Given the description of an element on the screen output the (x, y) to click on. 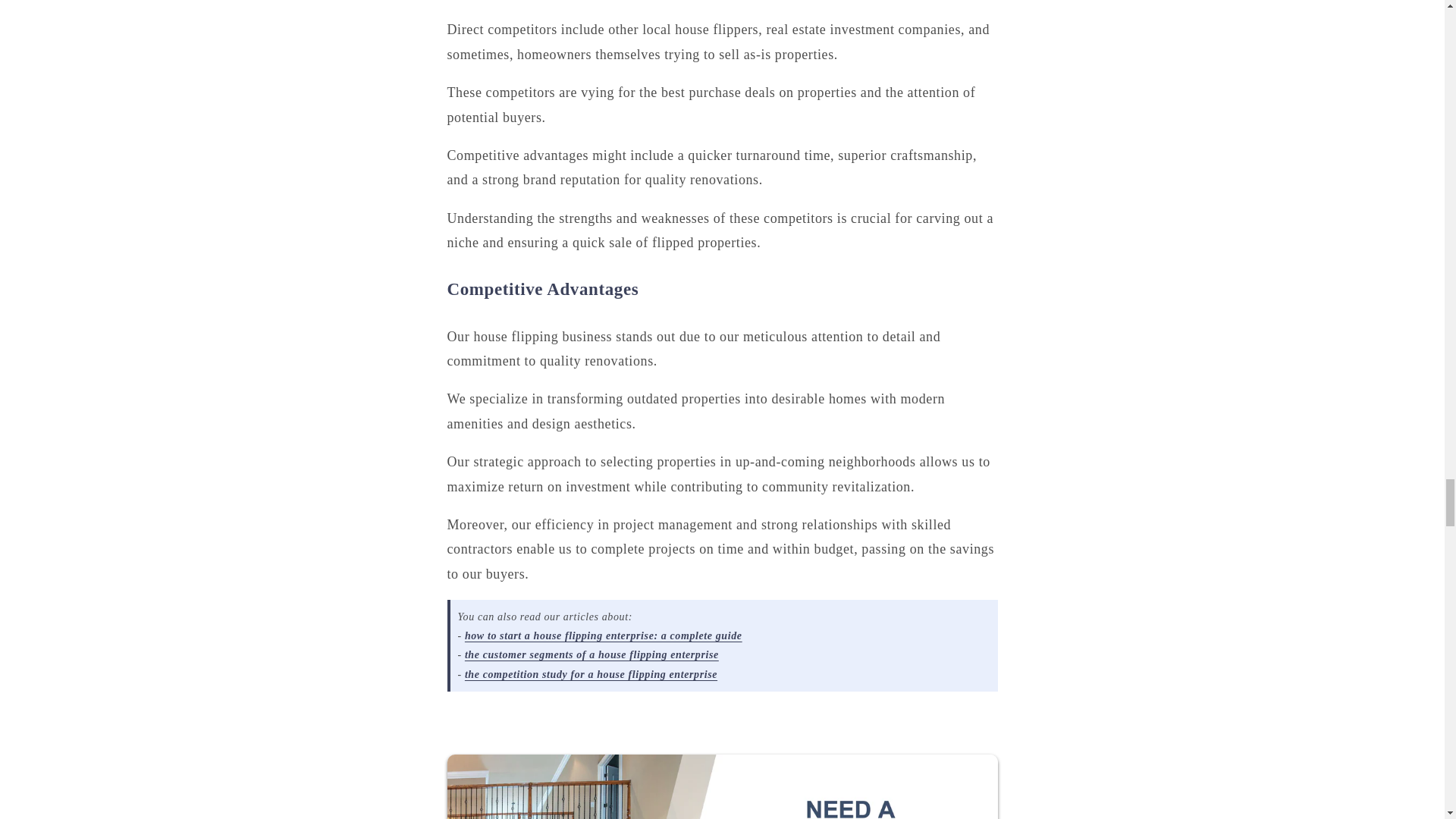
the competition study for a house flipping enterprise (590, 674)
the customer segments of a house flipping enterprise (591, 654)
how to start a house flipping enterprise: a complete guide (603, 635)
